Given the description of an element on the screen output the (x, y) to click on. 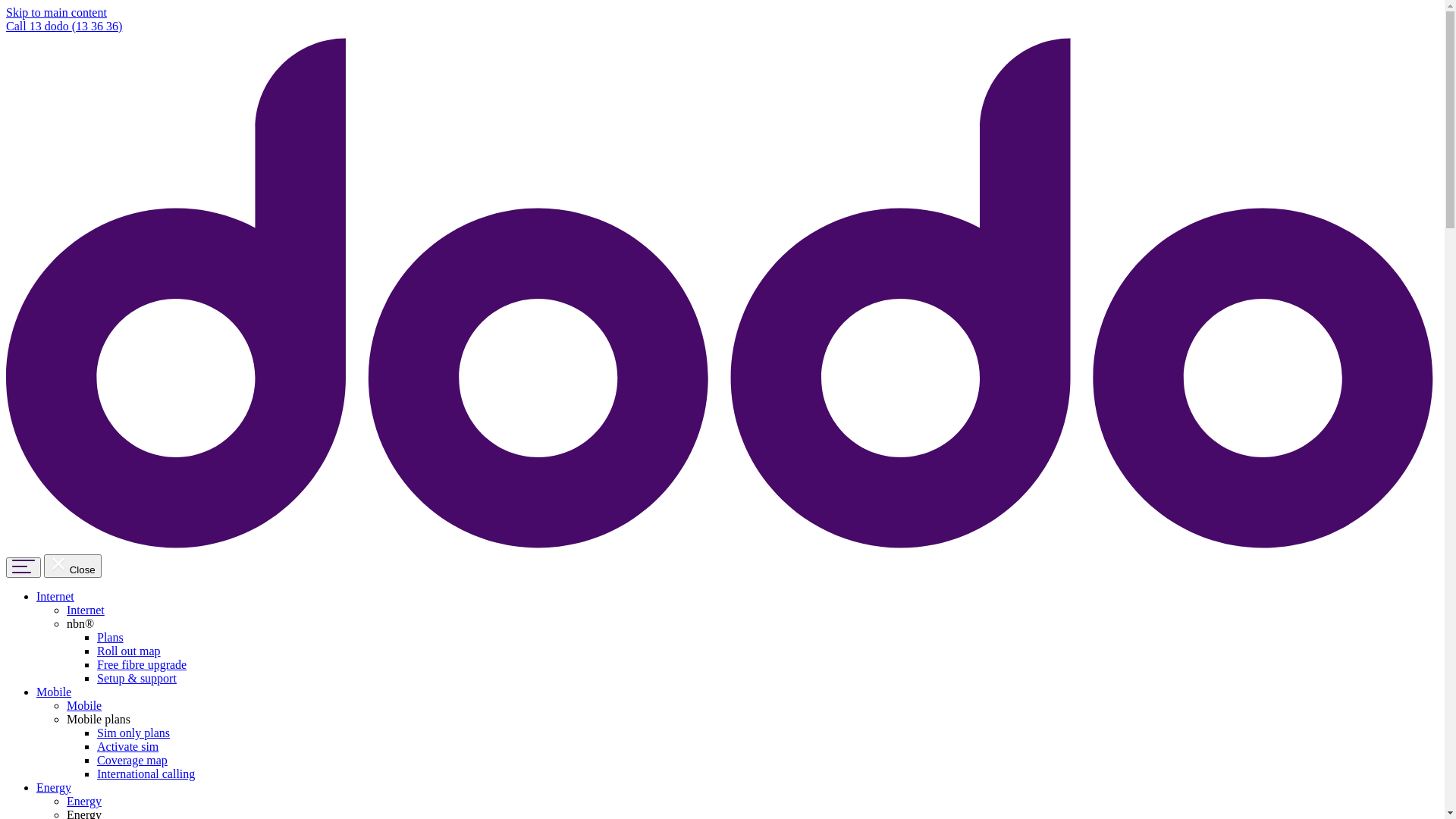
Coverage map Element type: text (132, 759)
Mobile Element type: text (53, 691)
Mobile Element type: text (83, 705)
Close Element type: text (72, 565)
Setup & support Element type: text (136, 677)
Activate sim Element type: text (127, 746)
Skip to main content Element type: text (56, 12)
Roll out map Element type: text (128, 650)
Internet Element type: text (85, 609)
Call 13 dodo (13 36 36) Element type: text (64, 25)
Home Element type: hover (722, 546)
International calling Element type: text (145, 773)
Free fibre upgrade Element type: text (141, 664)
Energy Element type: text (83, 800)
Plans Element type: text (110, 636)
Internet Element type: text (55, 595)
Energy Element type: text (53, 787)
Sim only plans Element type: text (133, 732)
